Given the description of an element on the screen output the (x, y) to click on. 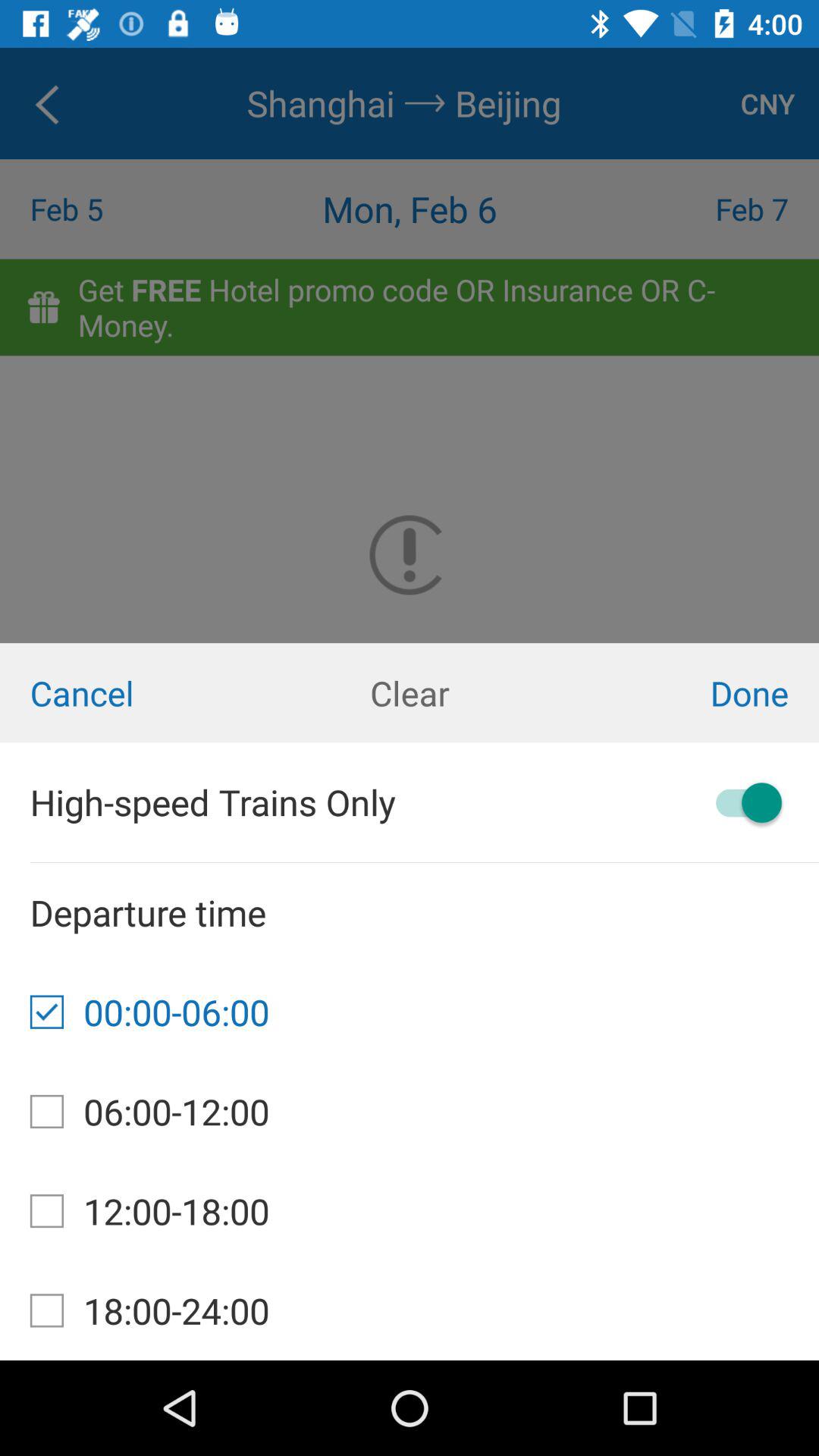
choose the clear item (409, 692)
